Given the description of an element on the screen output the (x, y) to click on. 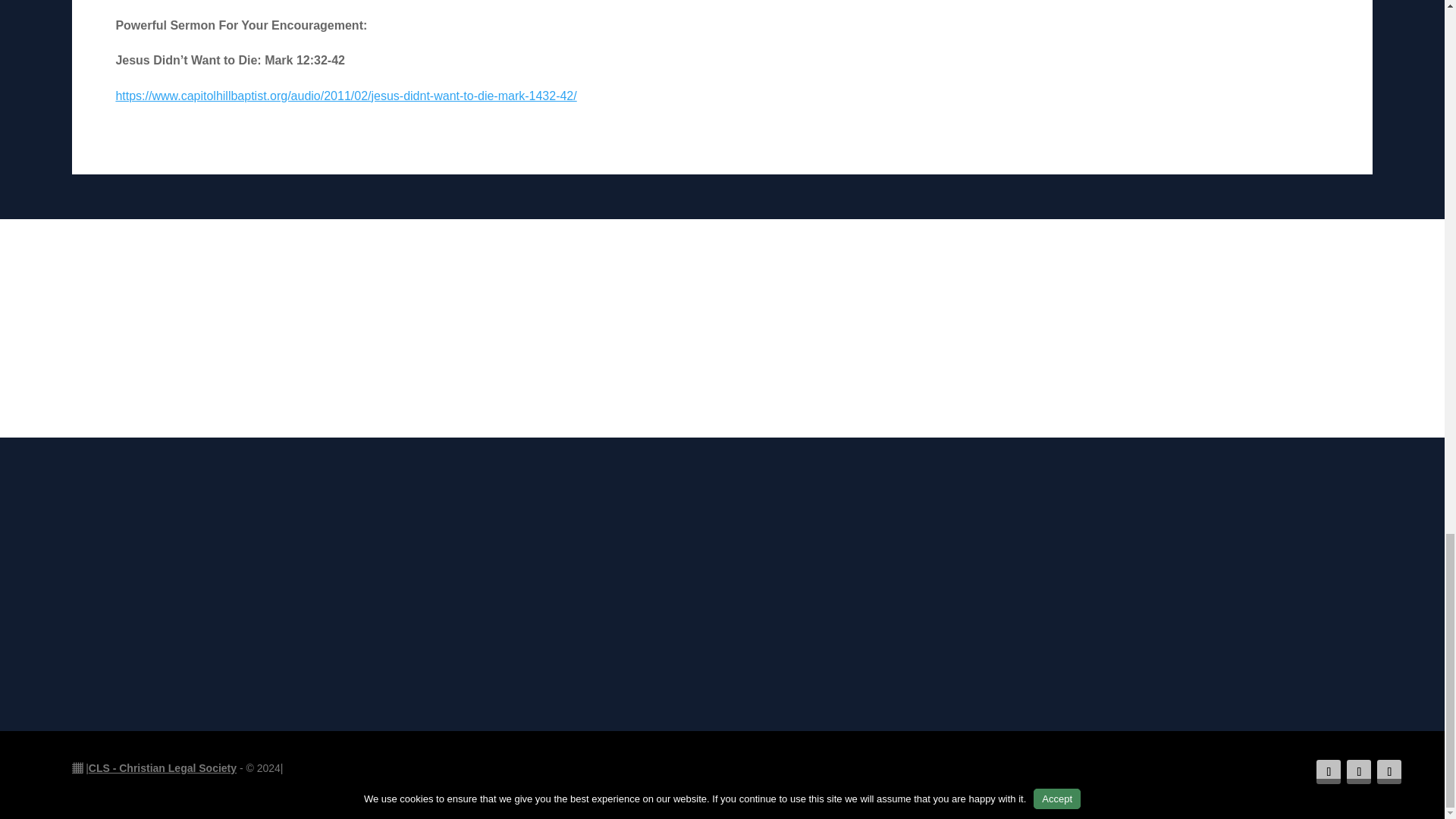
Search (780, 330)
CLS - Christian Legal Society (161, 767)
